Given the description of an element on the screen output the (x, y) to click on. 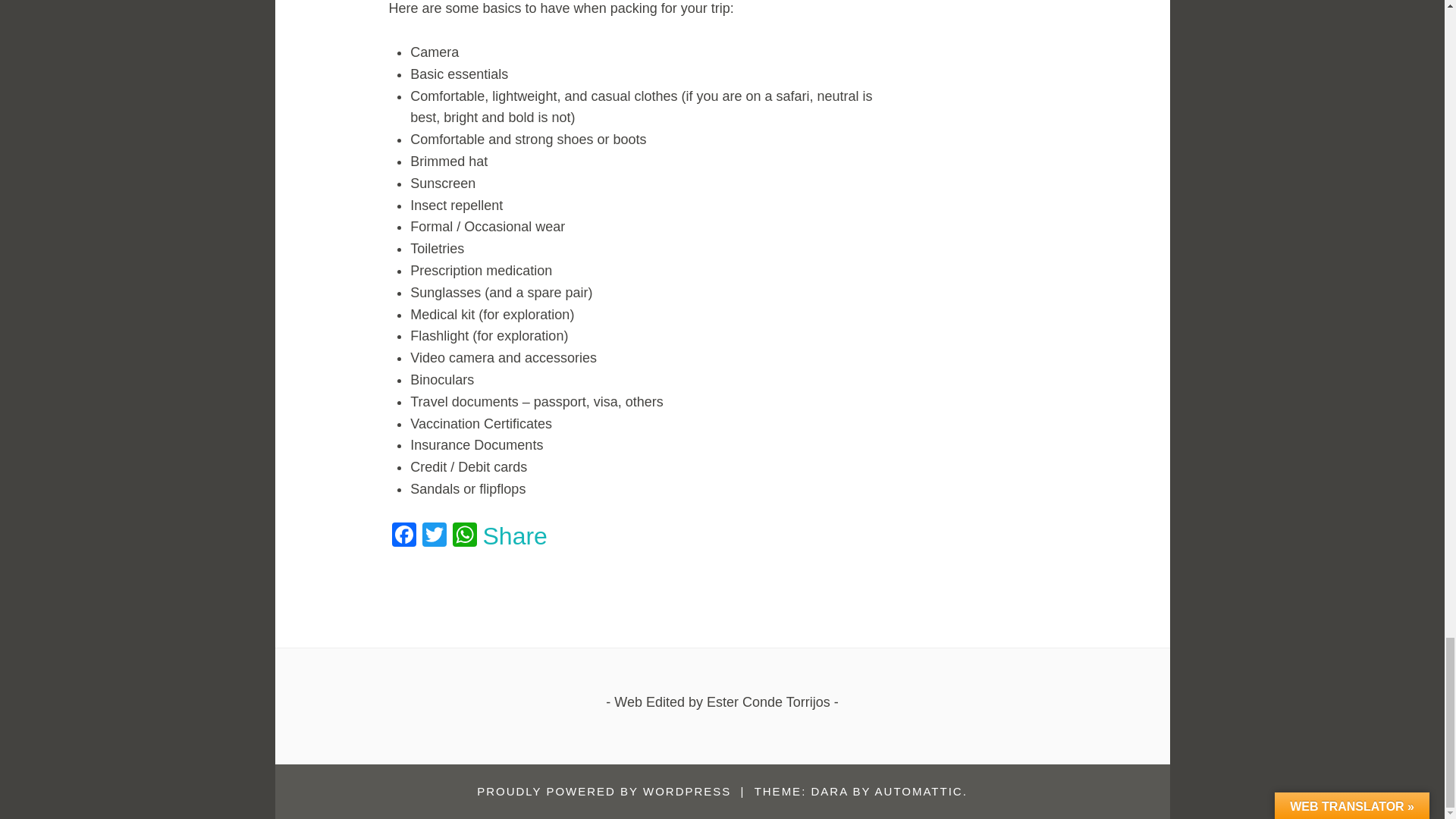
Facebook (403, 536)
WhatsApp (463, 536)
Facebook (403, 536)
WhatsApp (463, 536)
Twitter (433, 536)
Share (514, 535)
Twitter (433, 536)
